Given the description of an element on the screen output the (x, y) to click on. 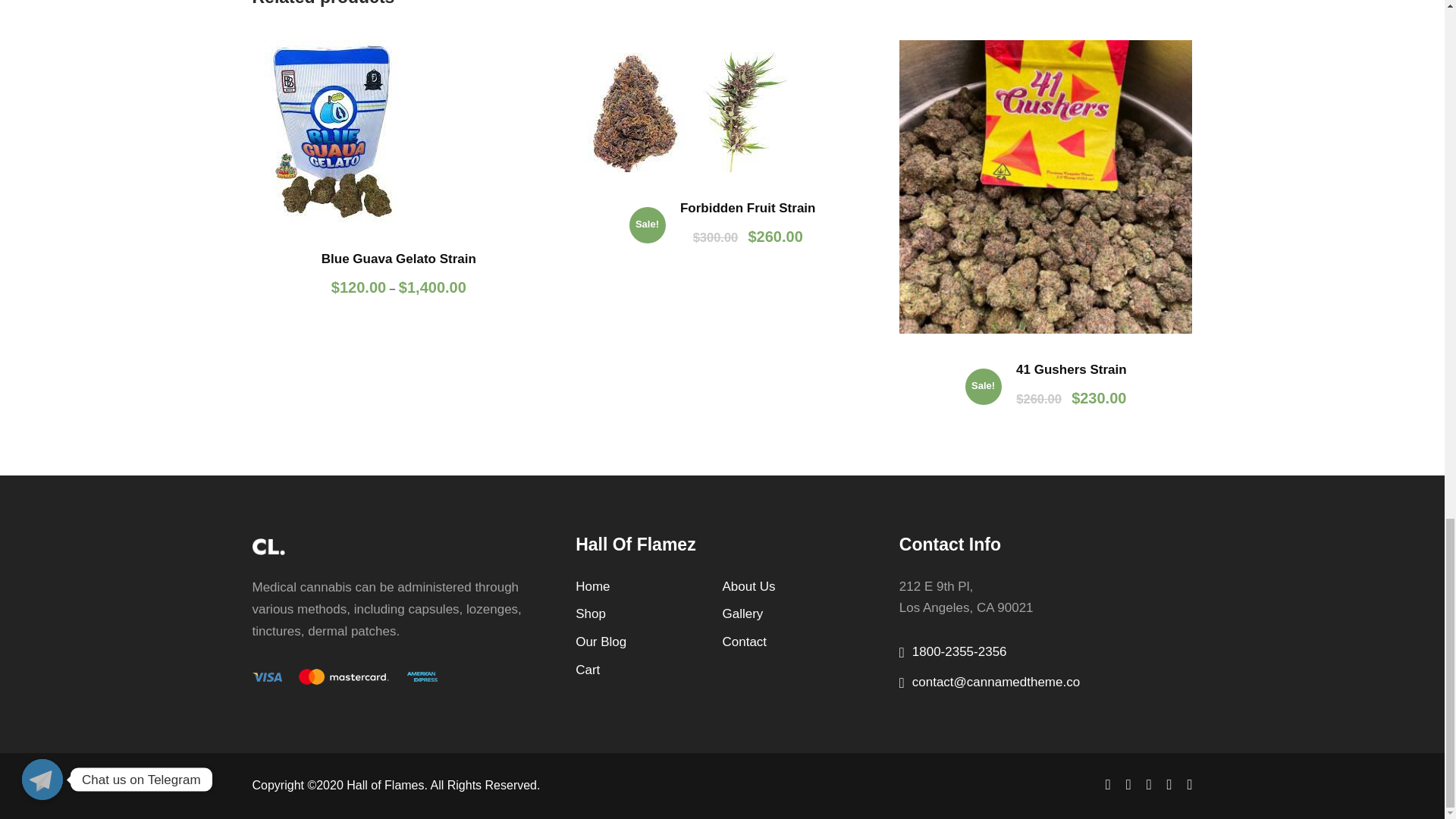
fruityyyy (684, 105)
